Given the description of an element on the screen output the (x, y) to click on. 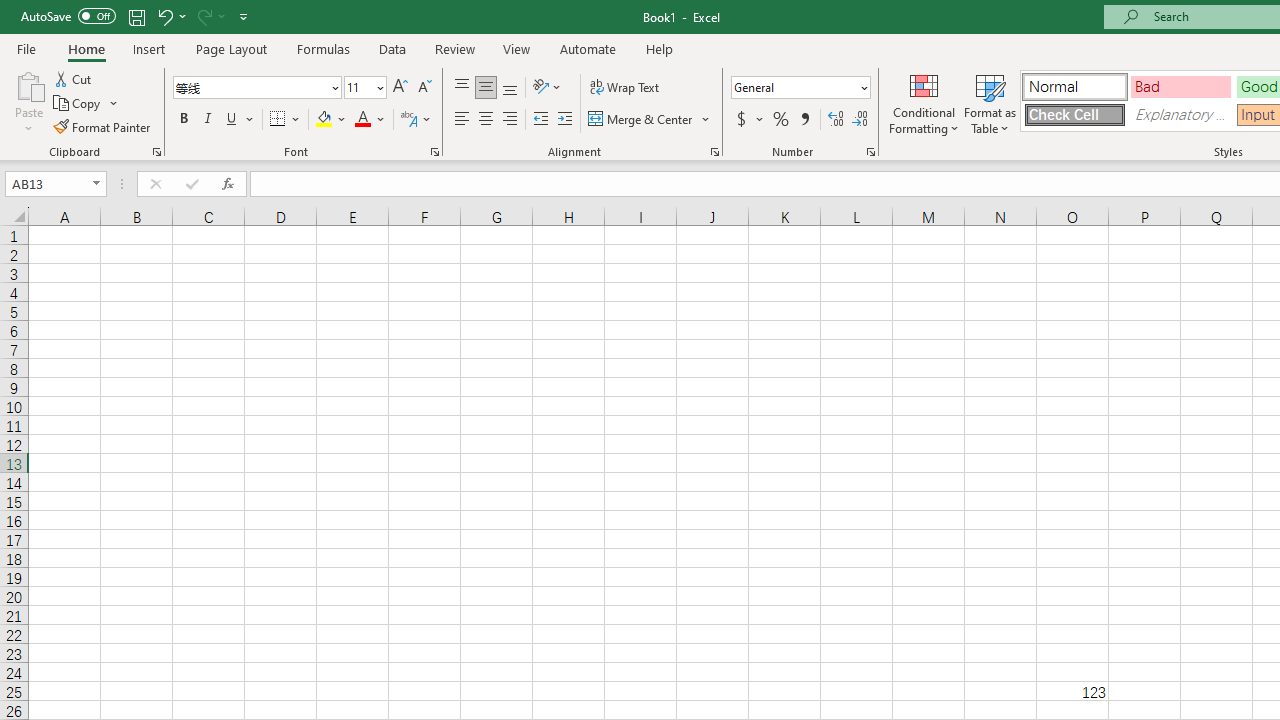
Review (454, 48)
Fill Color RGB(255, 255, 0) (324, 119)
Increase Decimal (836, 119)
File Tab (26, 48)
Help (660, 48)
Increase Indent (565, 119)
Merge & Center (649, 119)
Format Cell Alignment (714, 151)
Formulas (323, 48)
Bottom Align (509, 87)
Customize Quick Access Toolbar (244, 15)
Conditional Formatting (924, 102)
AutoSave (68, 16)
Decrease Font Size (424, 87)
Cut (73, 78)
